Given the description of an element on the screen output the (x, y) to click on. 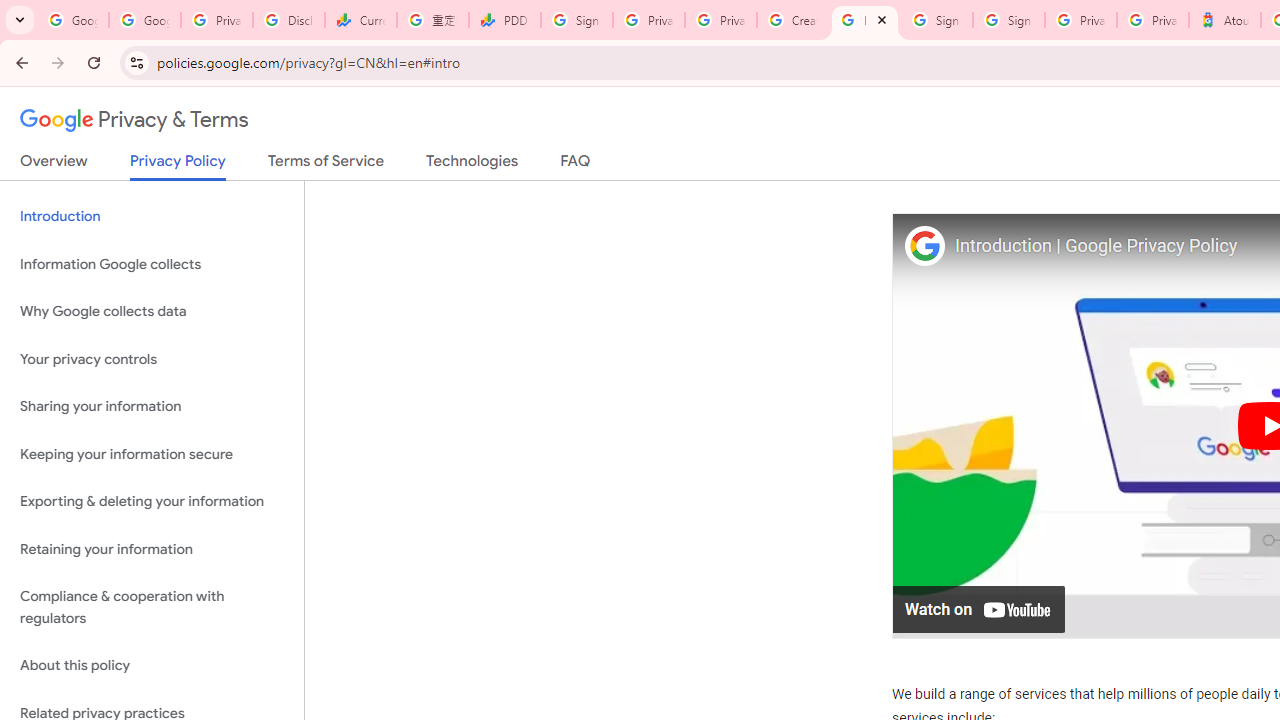
Privacy Checkup (720, 20)
Sign in - Google Accounts (936, 20)
Watch on YouTube (979, 608)
Create your Google Account (792, 20)
PDD Holdings Inc - ADR (PDD) Price & News - Google Finance (504, 20)
